Given the description of an element on the screen output the (x, y) to click on. 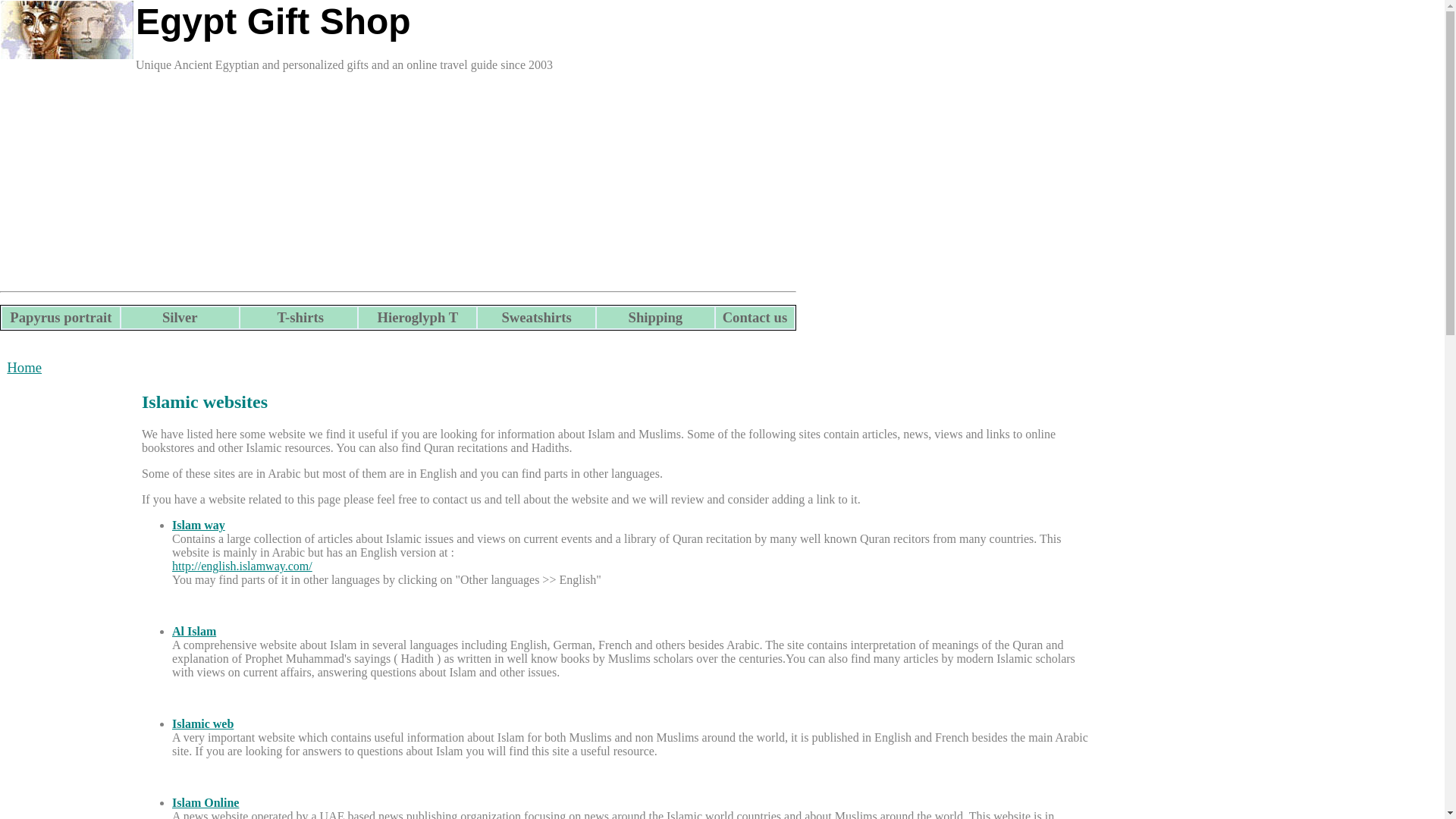
 T-shirts (299, 317)
Islamic web (201, 723)
Egypt Gift Shop (272, 21)
Sweatshirts (536, 317)
Shipping (655, 317)
Home (24, 367)
Islam way (198, 524)
Hieroglyph T (417, 317)
Contact us (754, 317)
